Given the description of an element on the screen output the (x, y) to click on. 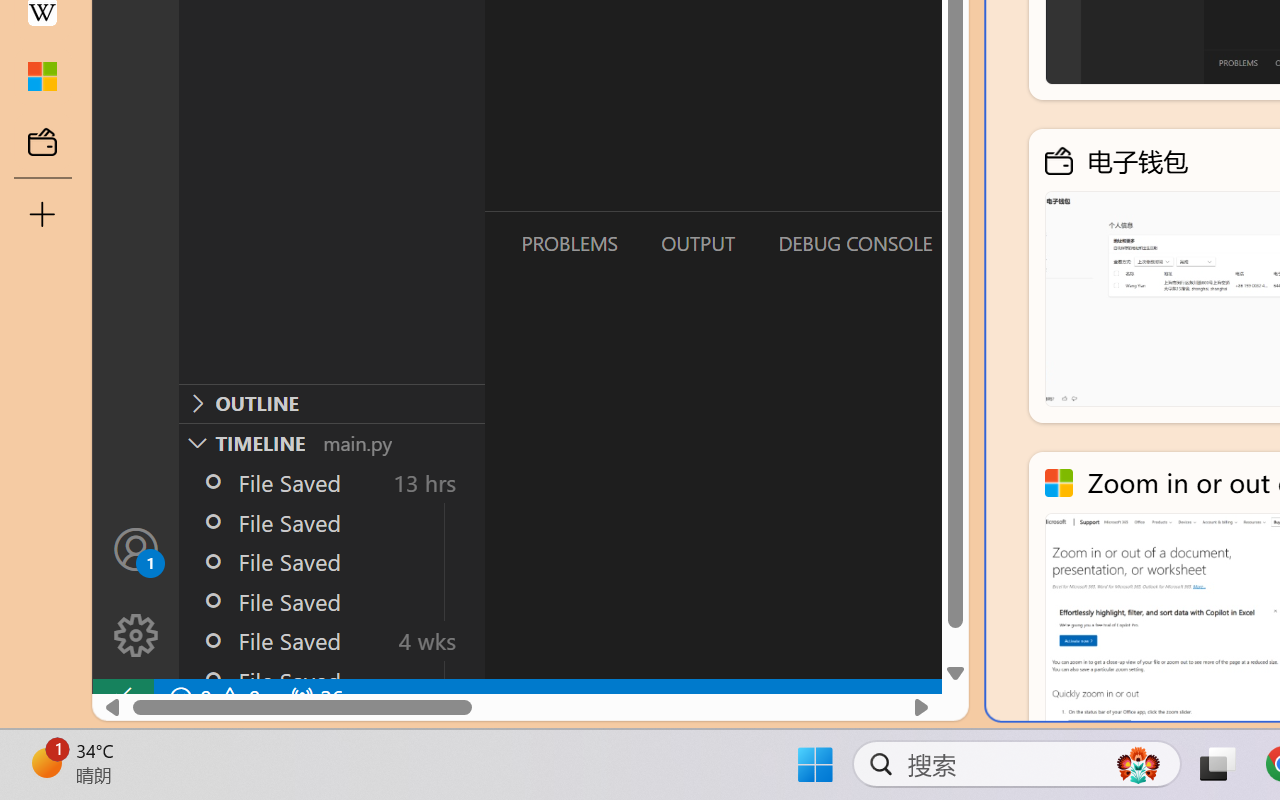
Problems (Ctrl+Shift+M) (567, 243)
No Problems (212, 698)
Manage (135, 635)
Accounts - Sign in requested (135, 548)
Output (Ctrl+Shift+U) (696, 243)
Manage (135, 591)
